Given the description of an element on the screen output the (x, y) to click on. 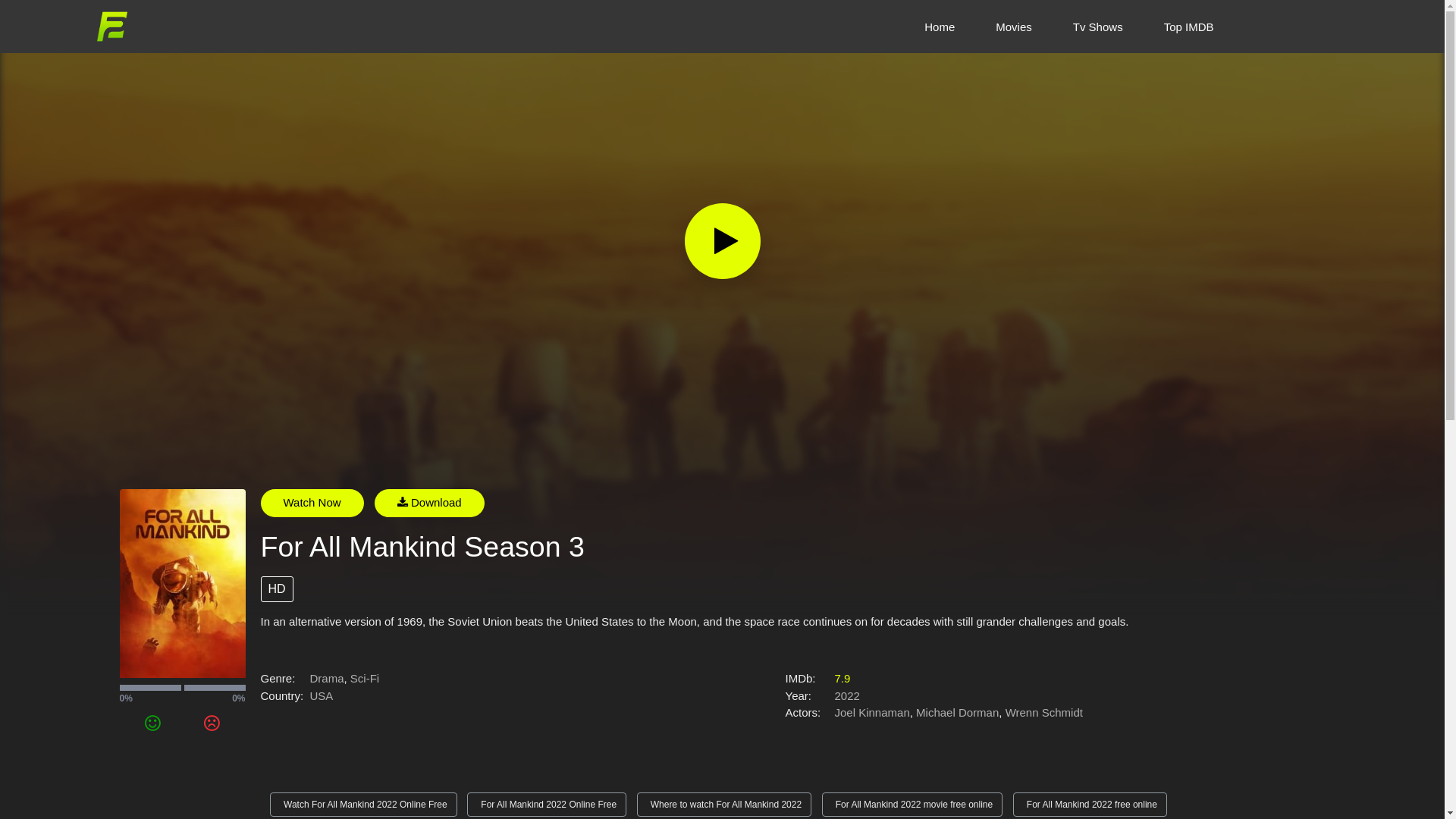
For All Mankind Element type: text (227, 435)
Movies Element type: text (1013, 25)
2022 Element type: text (846, 695)
Tv Shows Element type: text (1097, 25)
TV Shows Element type: text (157, 435)
Sci-Fi Element type: text (364, 677)
Michael Dorman Element type: text (957, 712)
Home Element type: text (111, 435)
Drama Element type: text (326, 677)
Download Element type: text (429, 503)
USA Element type: text (320, 695)
Home Element type: text (939, 25)
Wrenn Schmidt Element type: text (1043, 712)
Top IMDB Element type: text (1188, 25)
Watch Now Element type: text (312, 503)
Joel Kinnaman Element type: text (871, 712)
